Given the description of an element on the screen output the (x, y) to click on. 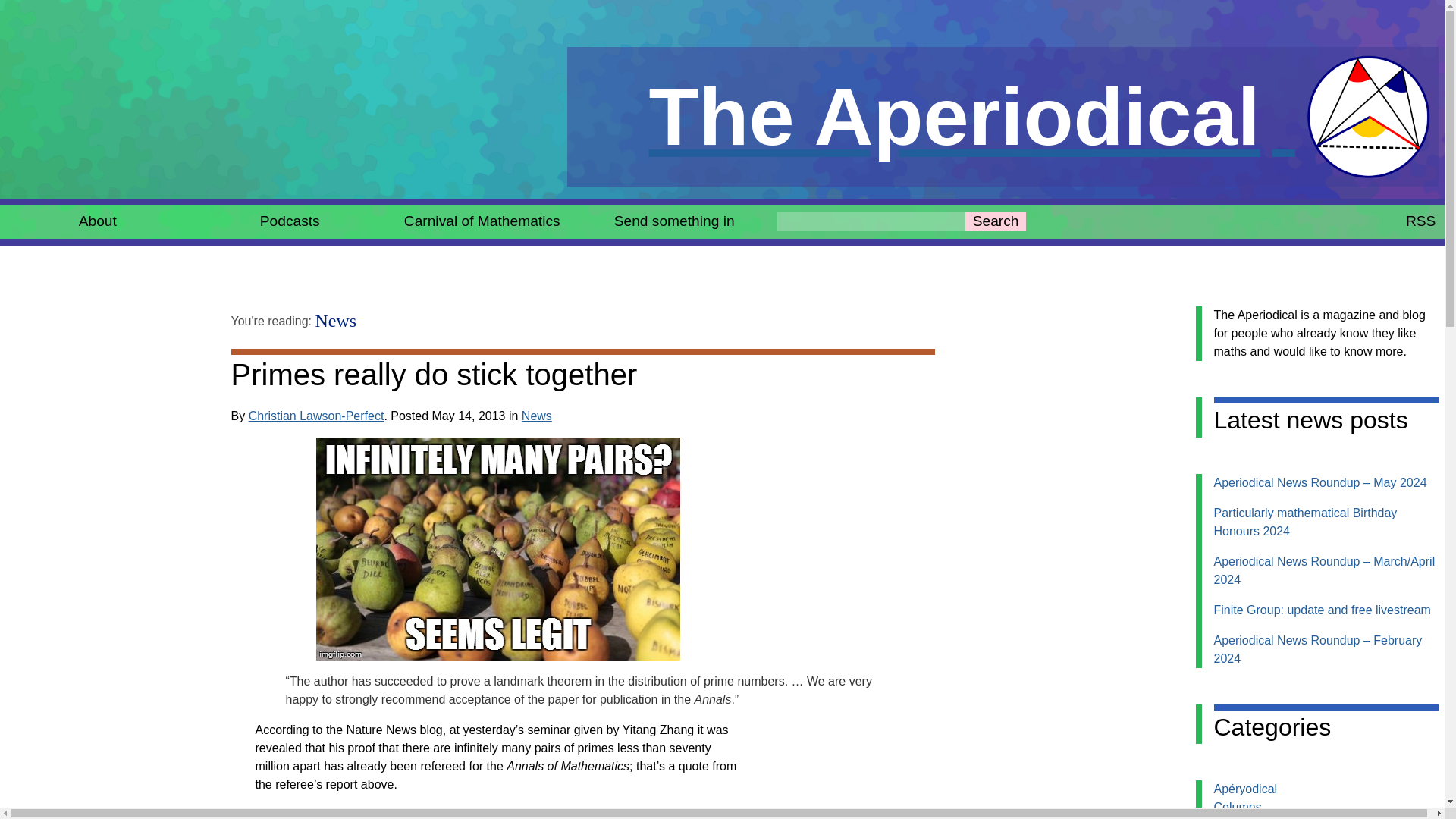
Particularly mathematical Birthday Honours 2024 (1304, 521)
Podcasts (290, 220)
abc: the story so far (490, 813)
News (335, 320)
Posts by Christian Lawson-Perfect (316, 415)
Columns (1236, 807)
Christian Lawson-Perfect (316, 415)
Carnival of Mathematics (1002, 116)
News (482, 220)
Finite Group: update and free livestream (536, 415)
Send something in (1320, 609)
RSS (674, 220)
Search (1420, 220)
About (995, 221)
